Given the description of an element on the screen output the (x, y) to click on. 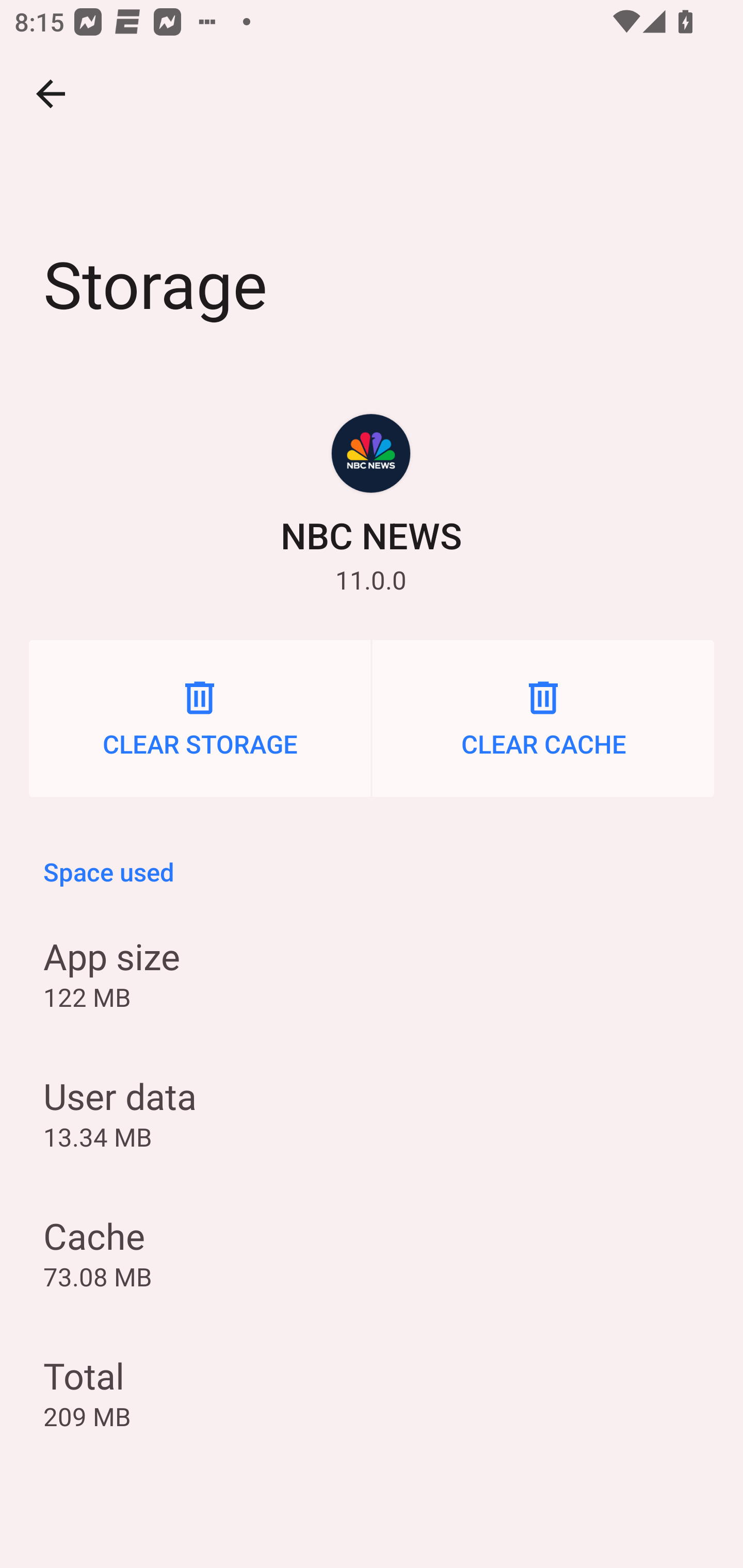
Navigate up (50, 93)
NBC NEWS 11.0.0 (371, 503)
CLEAR STORAGE (199, 717)
CLEAR CACHE (543, 717)
